Given the description of an element on the screen output the (x, y) to click on. 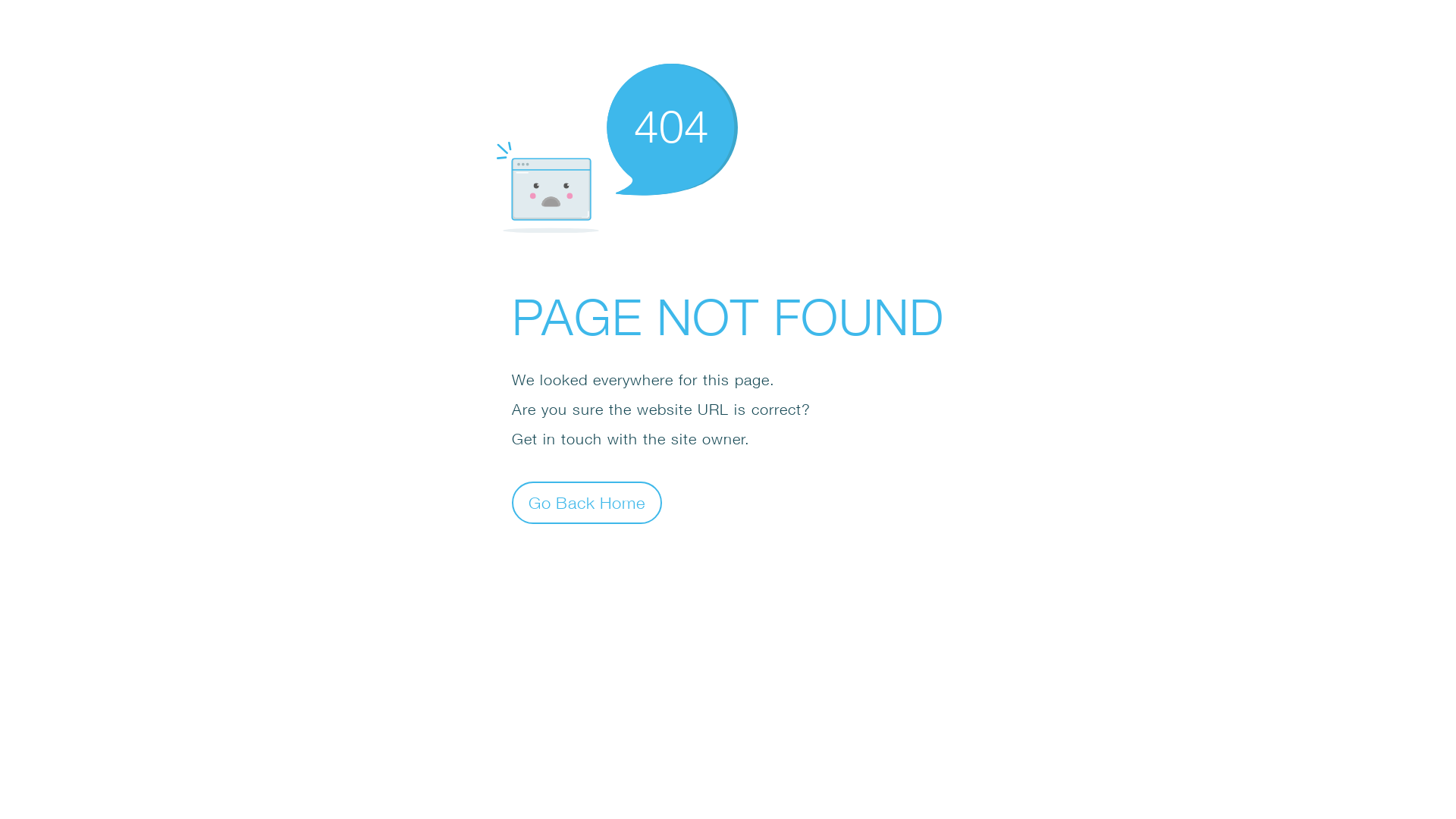
Go Back Home Element type: text (586, 502)
